Given the description of an element on the screen output the (x, y) to click on. 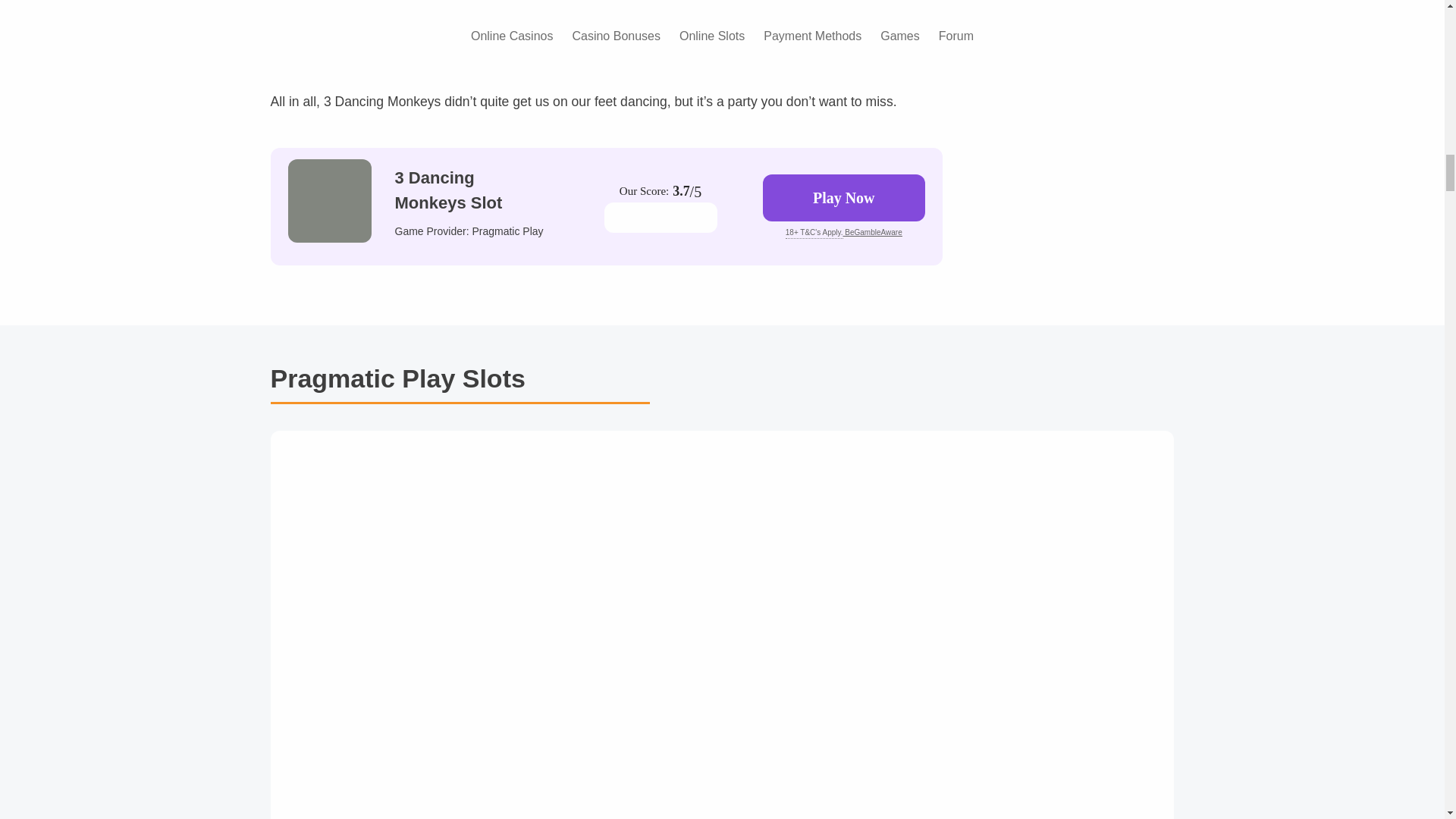
Pragmatic Play (507, 231)
Play Now (843, 197)
BeGambleAware (872, 232)
